Given the description of an element on the screen output the (x, y) to click on. 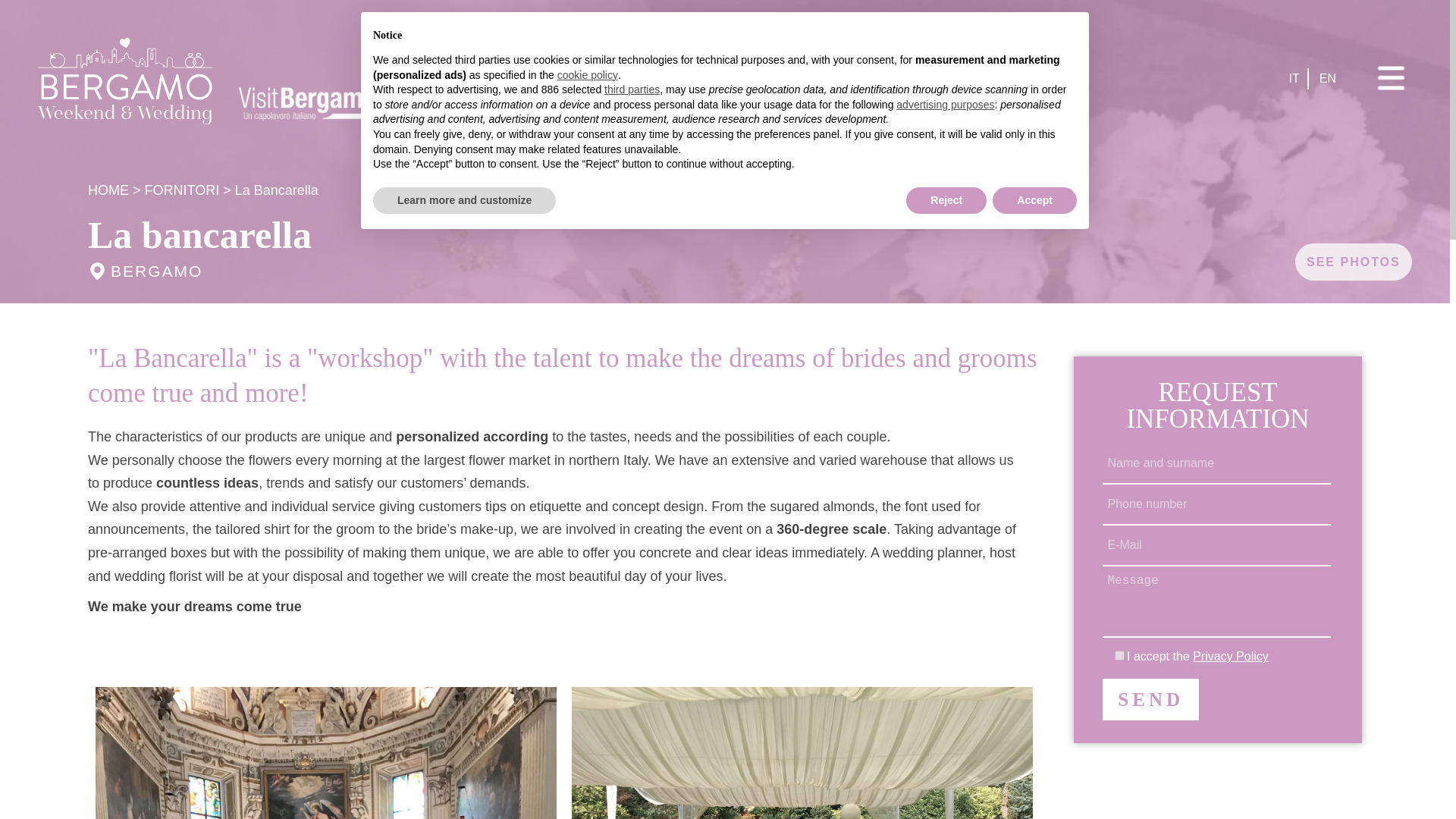
EN (1327, 78)
Send (1150, 699)
SEE PHOTOS (1353, 261)
IT (1294, 78)
Privacy Policy (1230, 656)
Send (1150, 699)
1 (1119, 655)
Privacy Policy  (1230, 656)
